Given the description of an element on the screen output the (x, y) to click on. 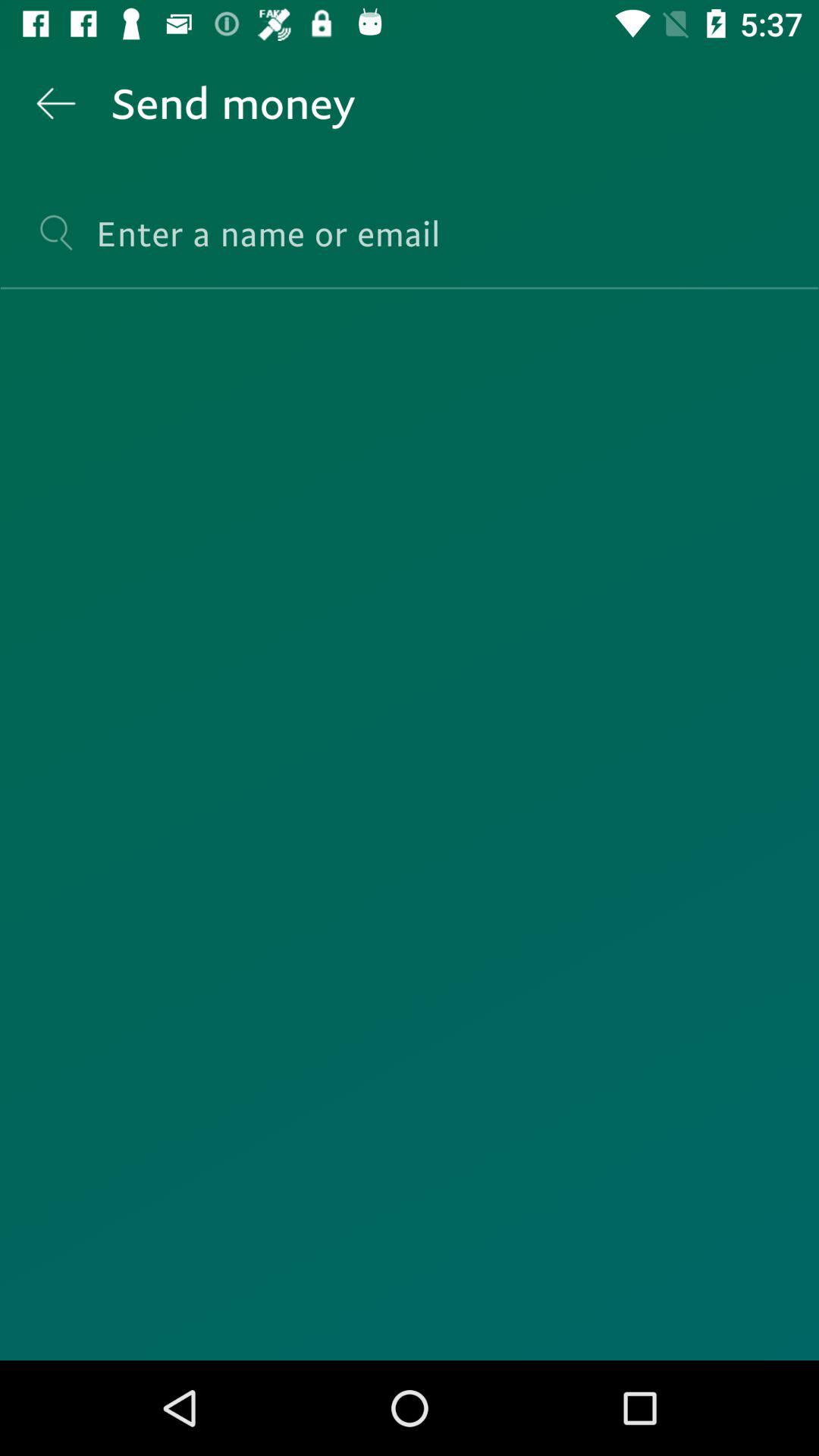
click item next to the send money item (55, 103)
